Given the description of an element on the screen output the (x, y) to click on. 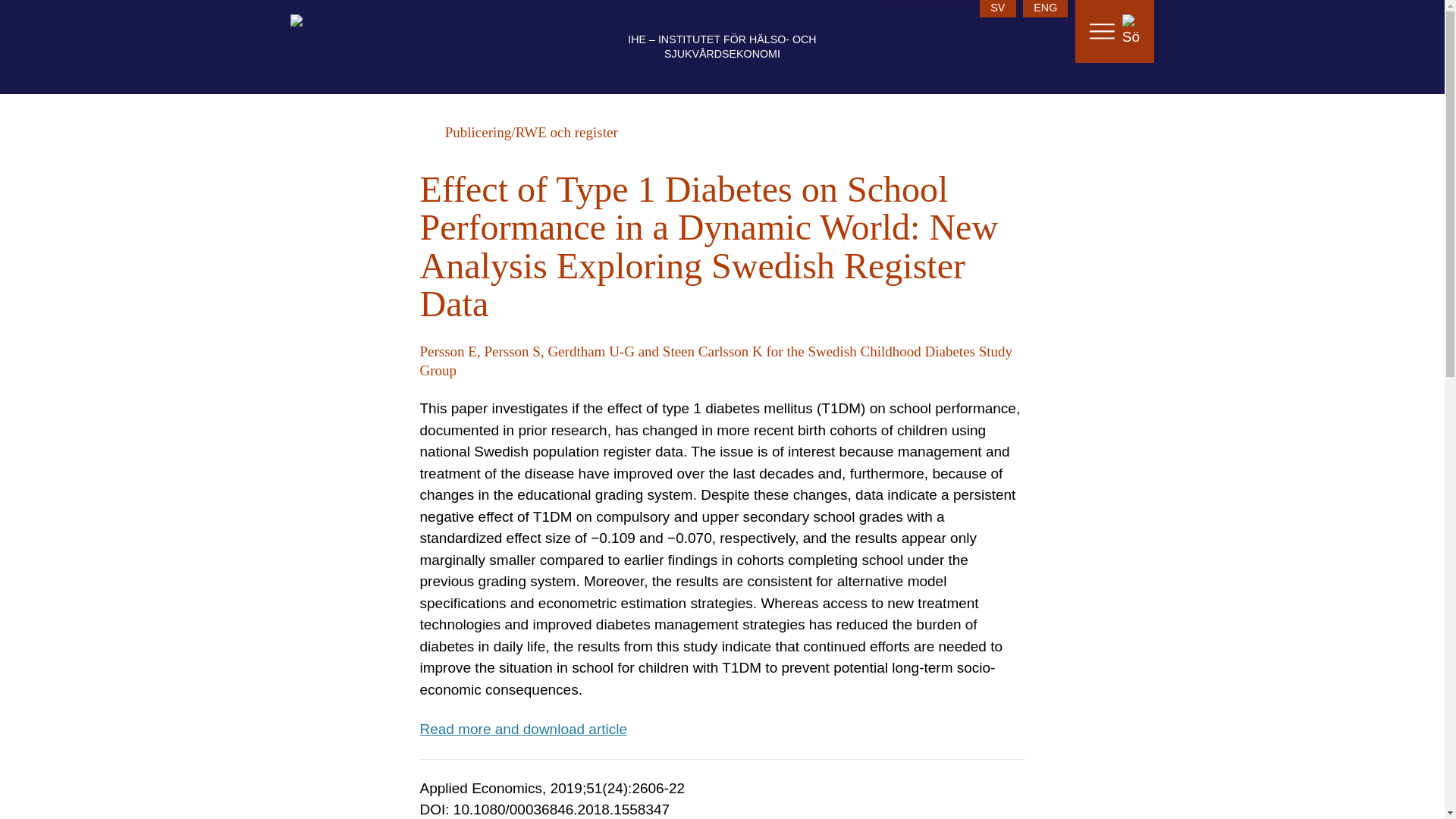
ENG (1045, 8)
SV (997, 8)
